Given the description of an element on the screen output the (x, y) to click on. 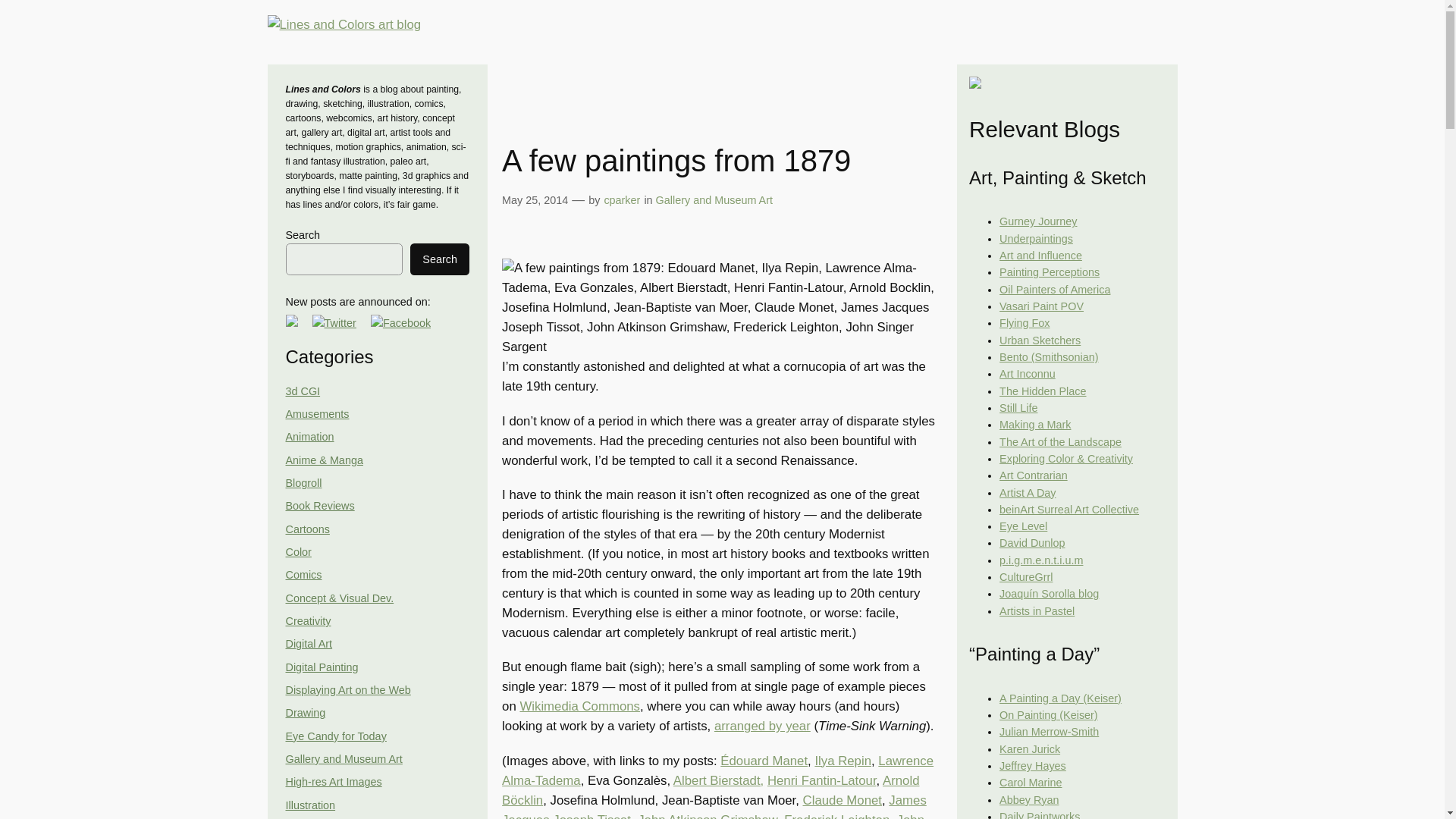
Eye Candy for Today (335, 736)
Digital Painting (321, 666)
Digital Art (308, 644)
Comics (303, 574)
Animation (309, 436)
Search (439, 259)
High-res Art Images (333, 781)
Gallery and Museum Art (343, 758)
Color (298, 551)
Drawing (304, 712)
